Given the description of an element on the screen output the (x, y) to click on. 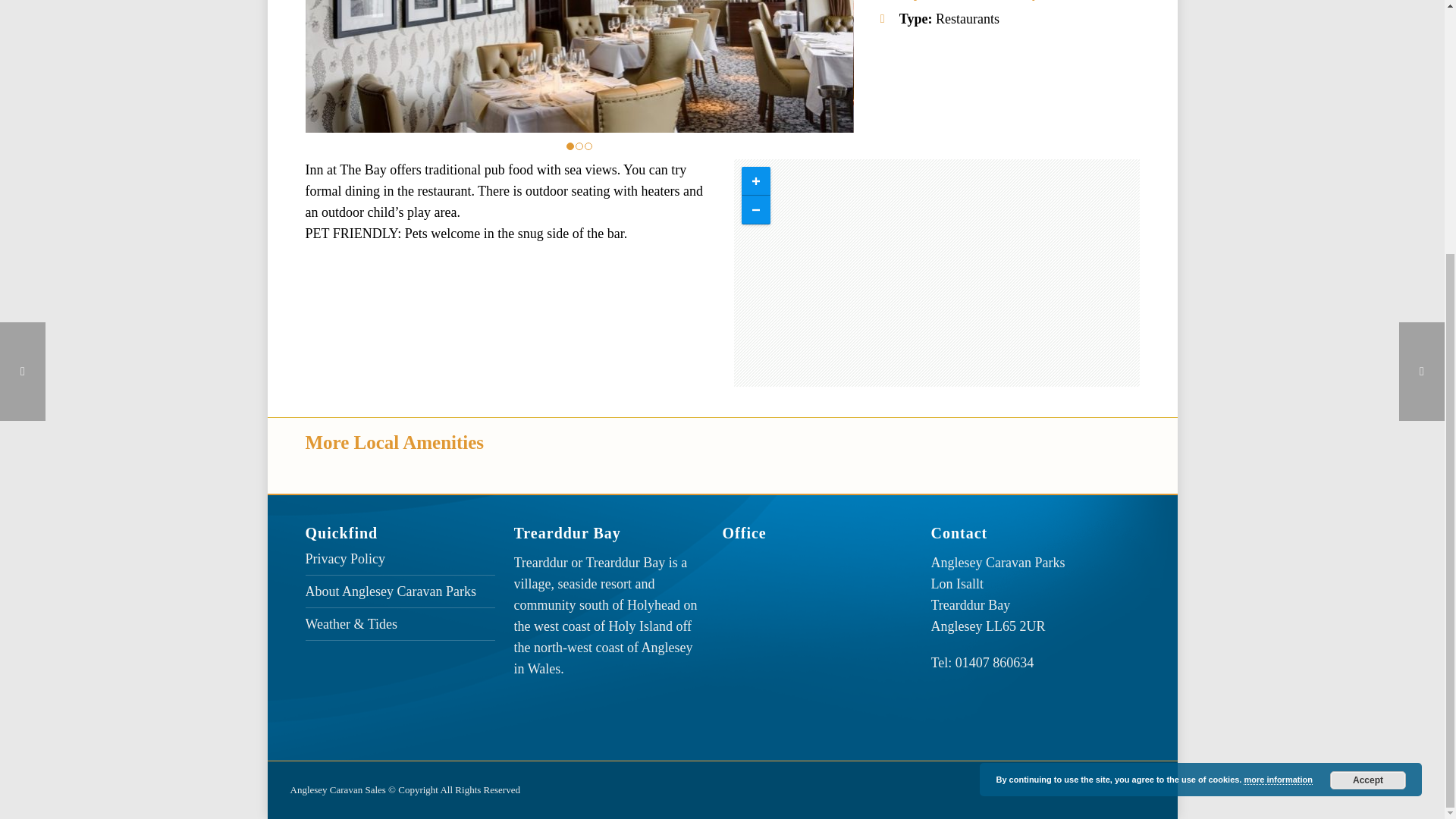
Zoom out (755, 209)
Bay Restaurant at The Trearddur Bay Hotel 4 (1126, 66)
Bay Restaurant at The Trearddur Bay Hotel 2 (578, 66)
Zoom in (755, 181)
